Given the description of an element on the screen output the (x, y) to click on. 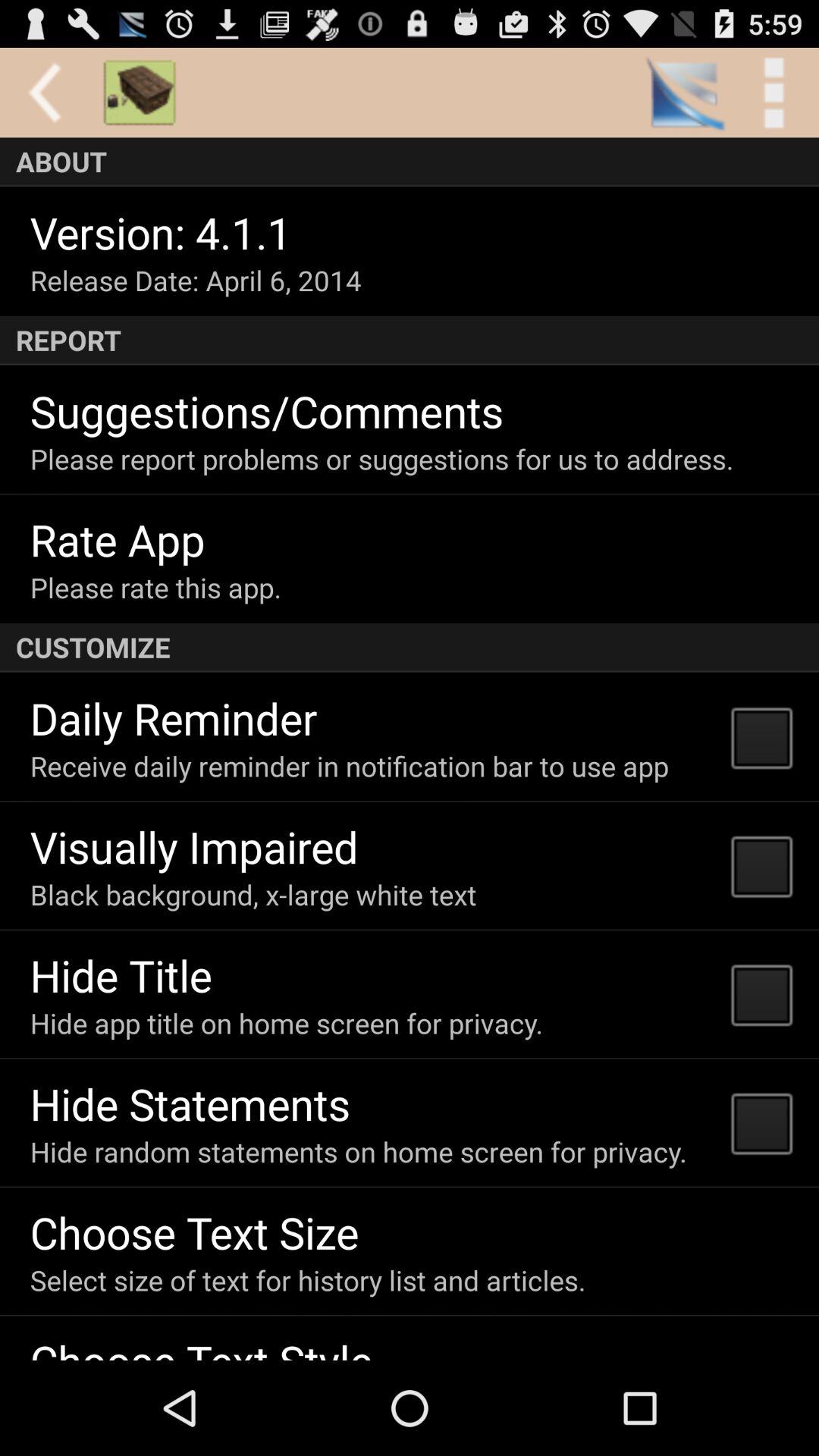
flip until the visually impaired item (194, 846)
